Given the description of an element on the screen output the (x, y) to click on. 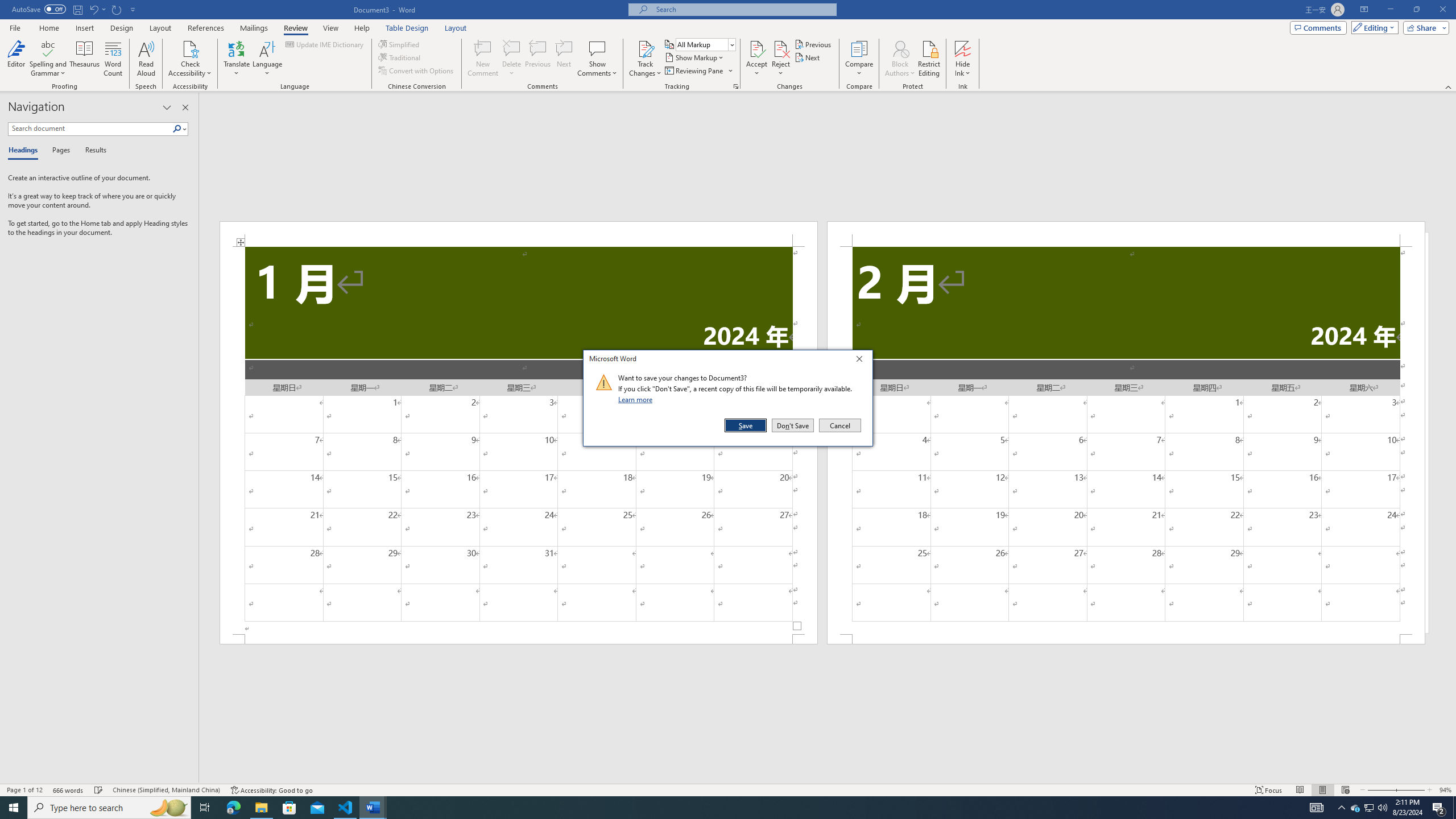
Word - 2 running windows (373, 807)
Undo Increase Indent (92, 9)
Block Authors (900, 58)
Word Count (113, 58)
